Given the description of an element on the screen output the (x, y) to click on. 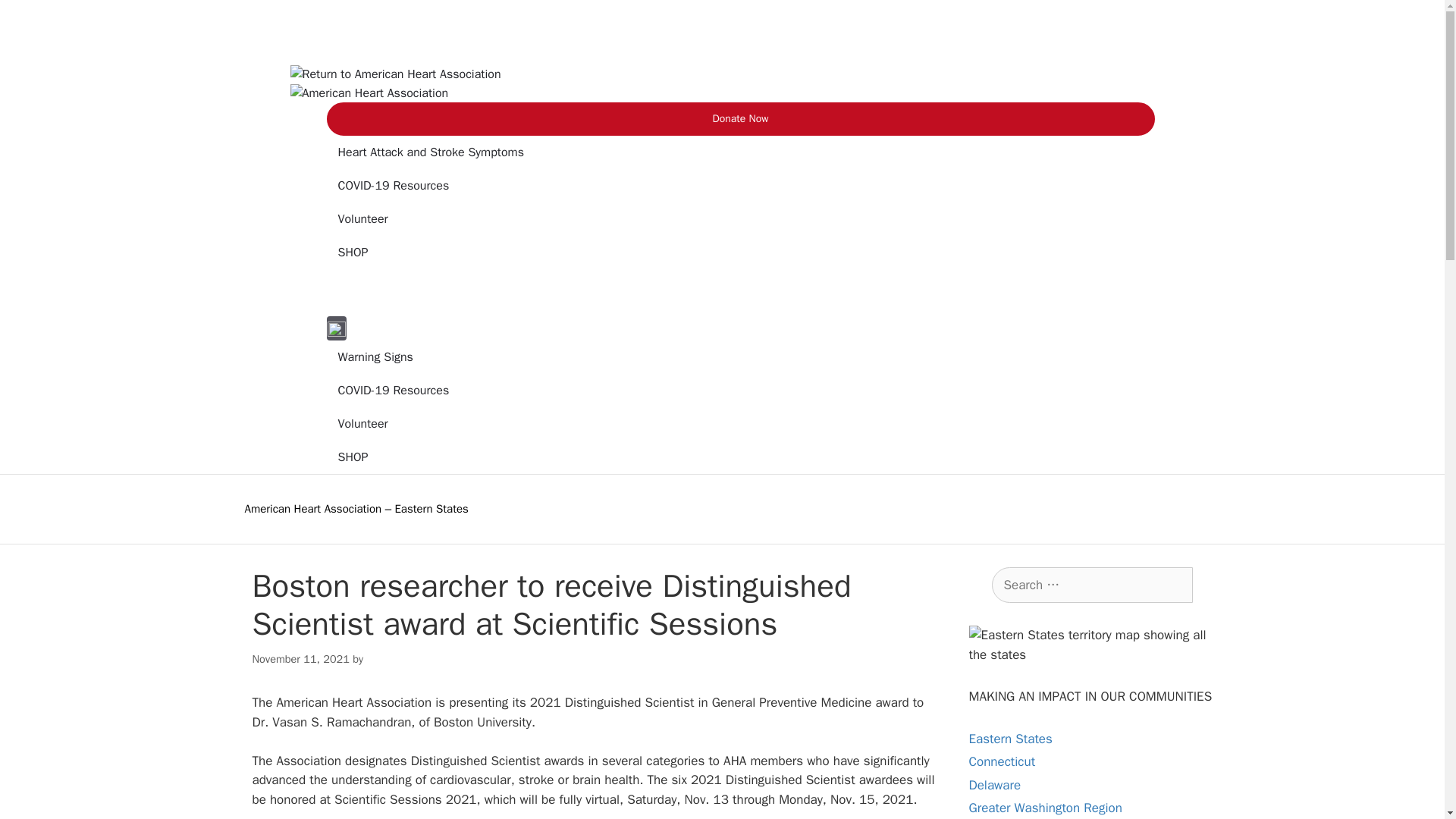
COVID-19 Resources (740, 390)
Search for: (1091, 585)
Eastern States (1010, 738)
Heart Attack and Stroke Symptoms (737, 151)
Greater Washington Region (1045, 807)
Warning Signs (740, 356)
Delaware (995, 785)
Connecticut (1002, 761)
Donate Now (740, 118)
SHOP (737, 252)
COVID-19 Resources (737, 185)
Volunteer (737, 218)
Search (35, 18)
Volunteer (740, 423)
SHOP (740, 457)
